Given the description of an element on the screen output the (x, y) to click on. 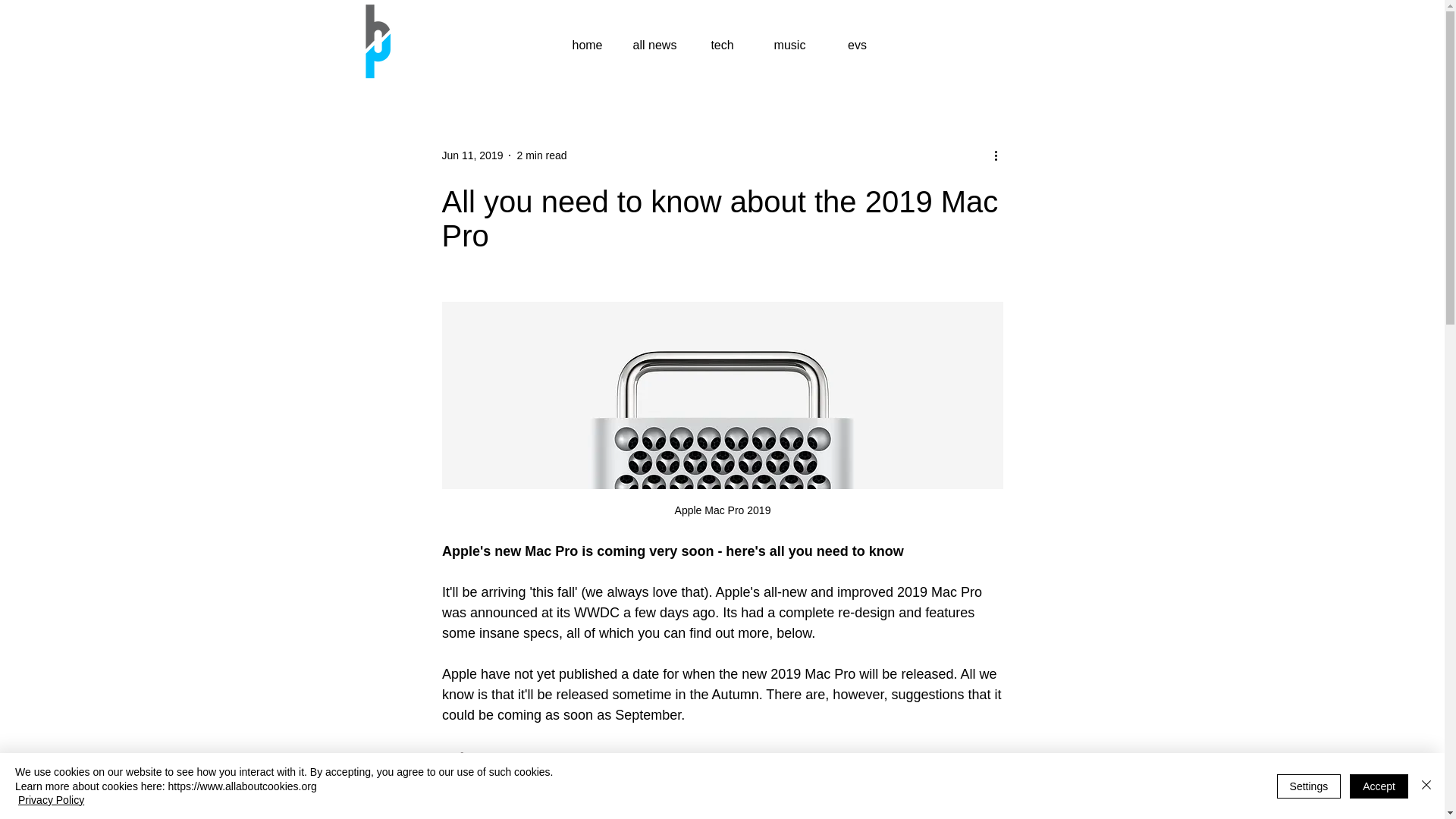
Jun 11, 2019 (471, 154)
music (789, 44)
2 min read (541, 154)
home (587, 44)
tech (721, 44)
evs (857, 44)
all news (654, 44)
